Given the description of an element on the screen output the (x, y) to click on. 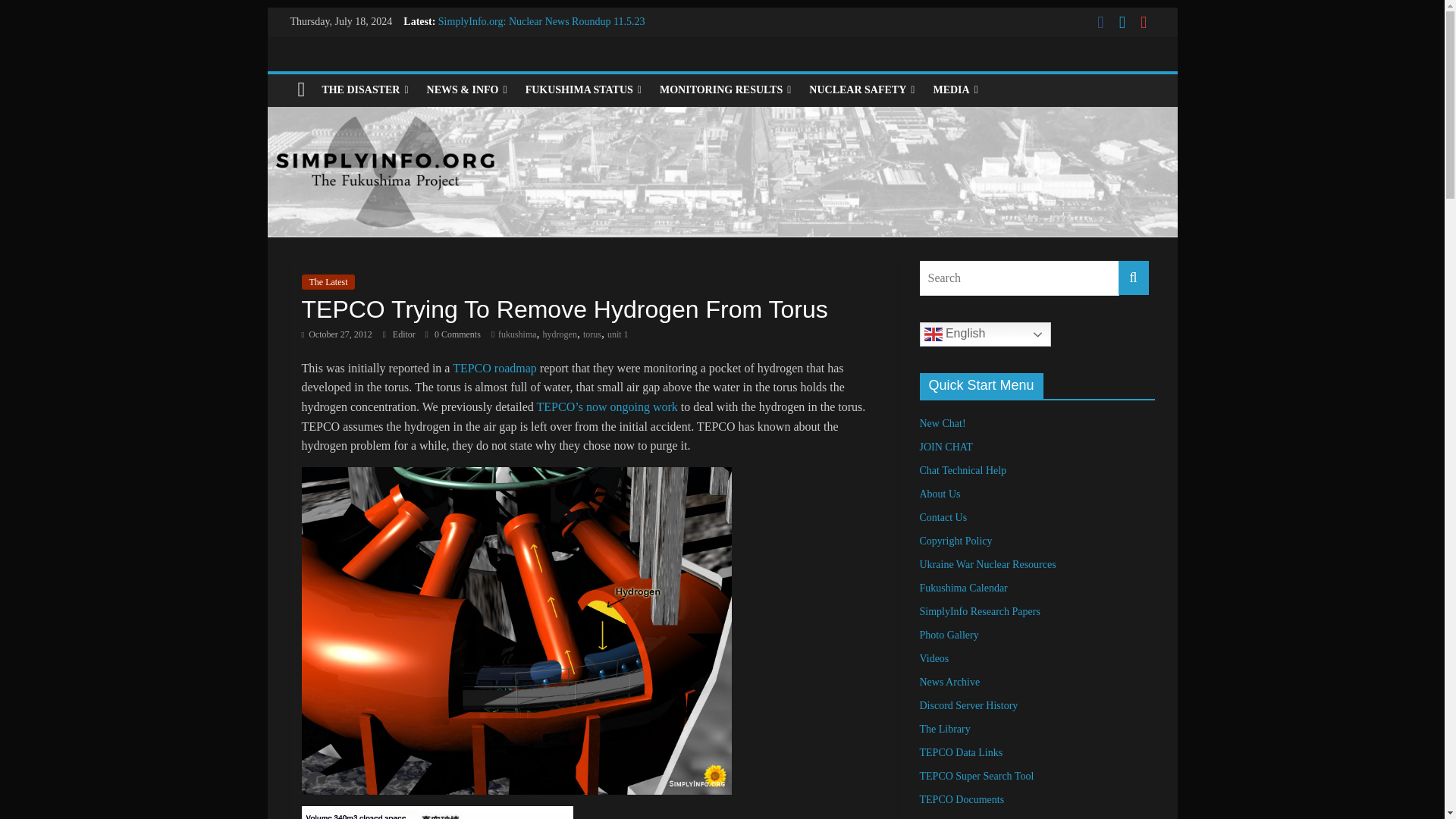
SimplyInfo.org: 13th Anniversary Report Fukushima Daiichi (567, 55)
1:28 am (336, 334)
SimplyInfo.org: 13th Anniversary Report Fukushima Daiichi (567, 55)
Editor (405, 334)
THE DISASTER (364, 90)
Workers Exposed To Radioactive Liquid At Daiichi (548, 38)
SimplyInfo.org: Nuclear News Roundup 11.5.23 (541, 21)
SimplyInfo.org: Nuclear News Roundup 11.5.23 (541, 21)
Workers Exposed To Radioactive Liquid At Daiichi (548, 38)
SimplyInfo.org (301, 90)
